Given the description of an element on the screen output the (x, y) to click on. 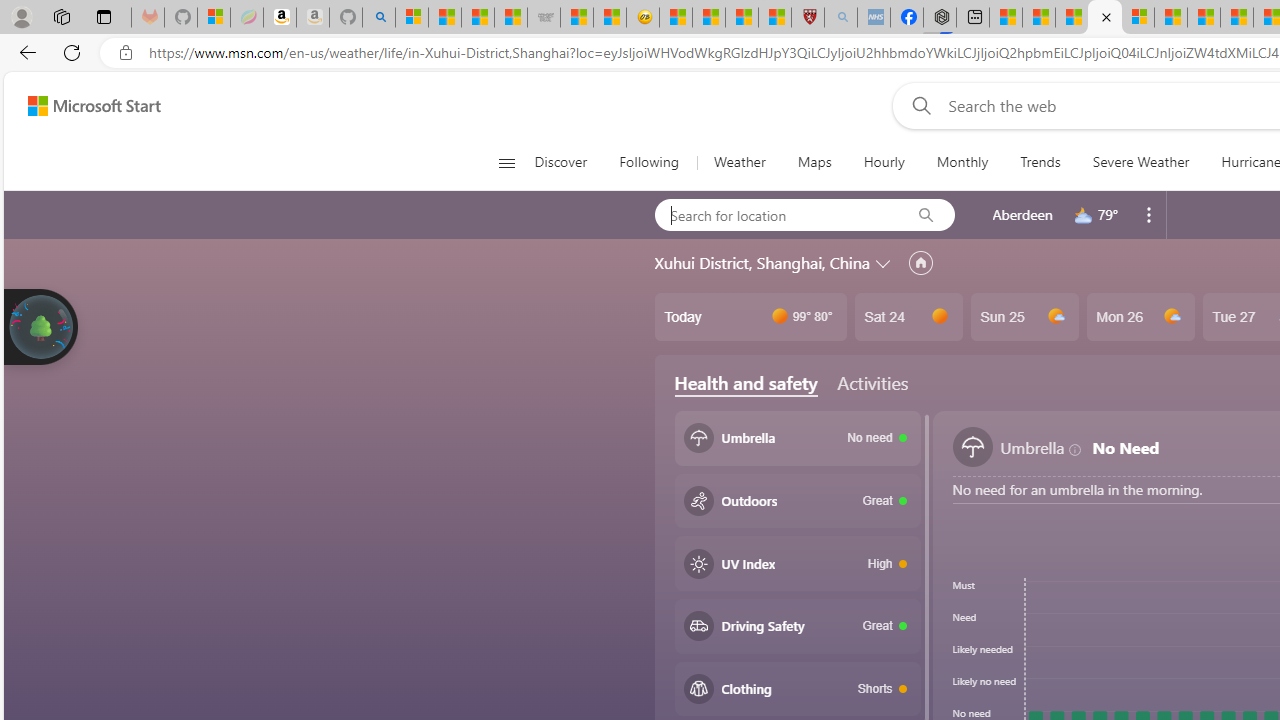
UV index High (797, 563)
Severe Weather (1140, 162)
